Given the description of an element on the screen output the (x, y) to click on. 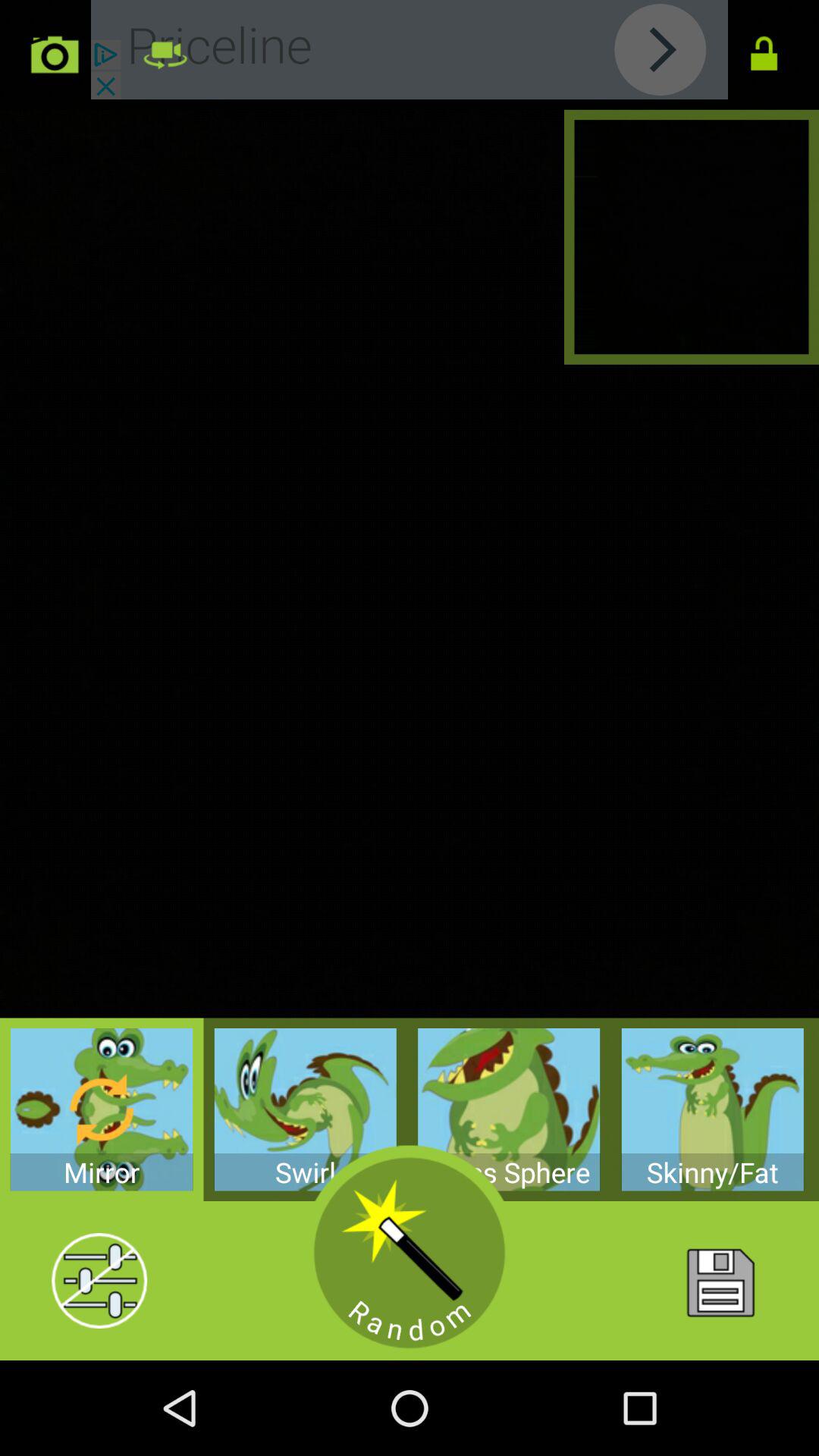
new save/overwrite (719, 1280)
